Given the description of an element on the screen output the (x, y) to click on. 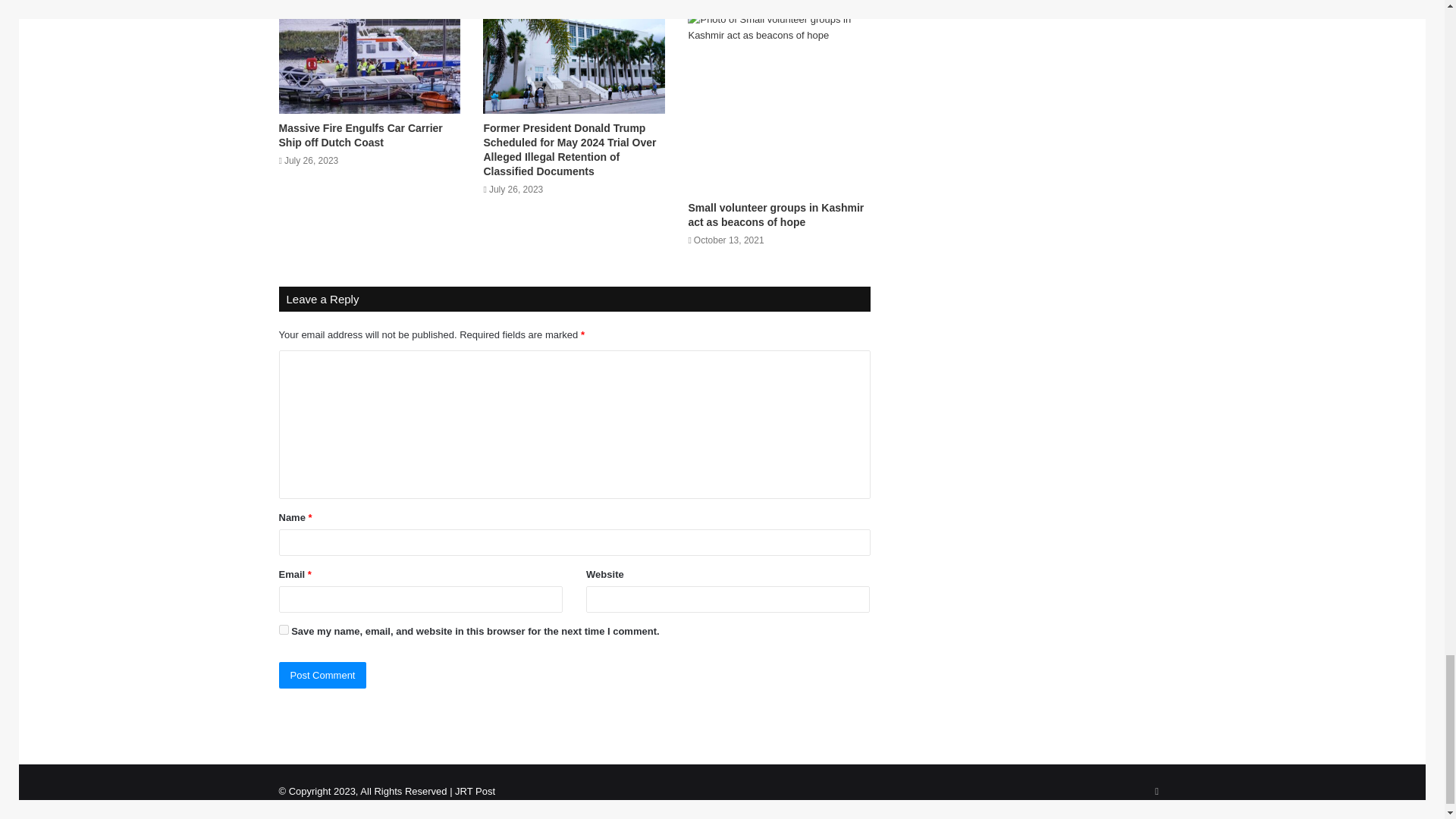
yes (283, 629)
Small volunteer groups in Kashmir act as beacons of hope (775, 214)
Massive Fire Engulfs Car Carrier Ship off Dutch Coast (360, 135)
Post Comment (322, 674)
